Given the description of an element on the screen output the (x, y) to click on. 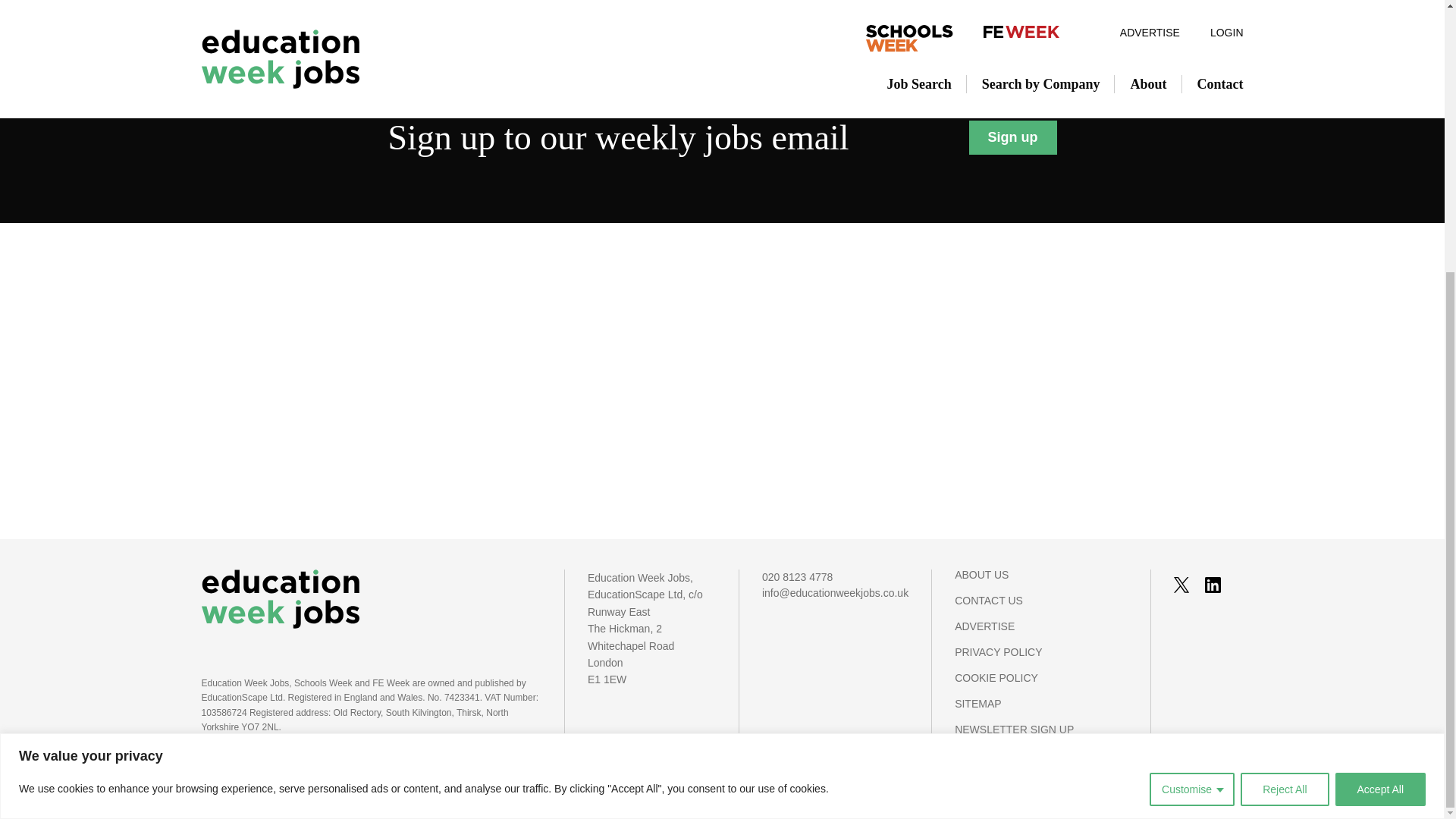
Accept All (1380, 388)
ABOUT US (1040, 582)
Sign up (1013, 137)
Customise (1192, 388)
020 8123 4778 (834, 577)
Reject All (1283, 388)
